Given the description of an element on the screen output the (x, y) to click on. 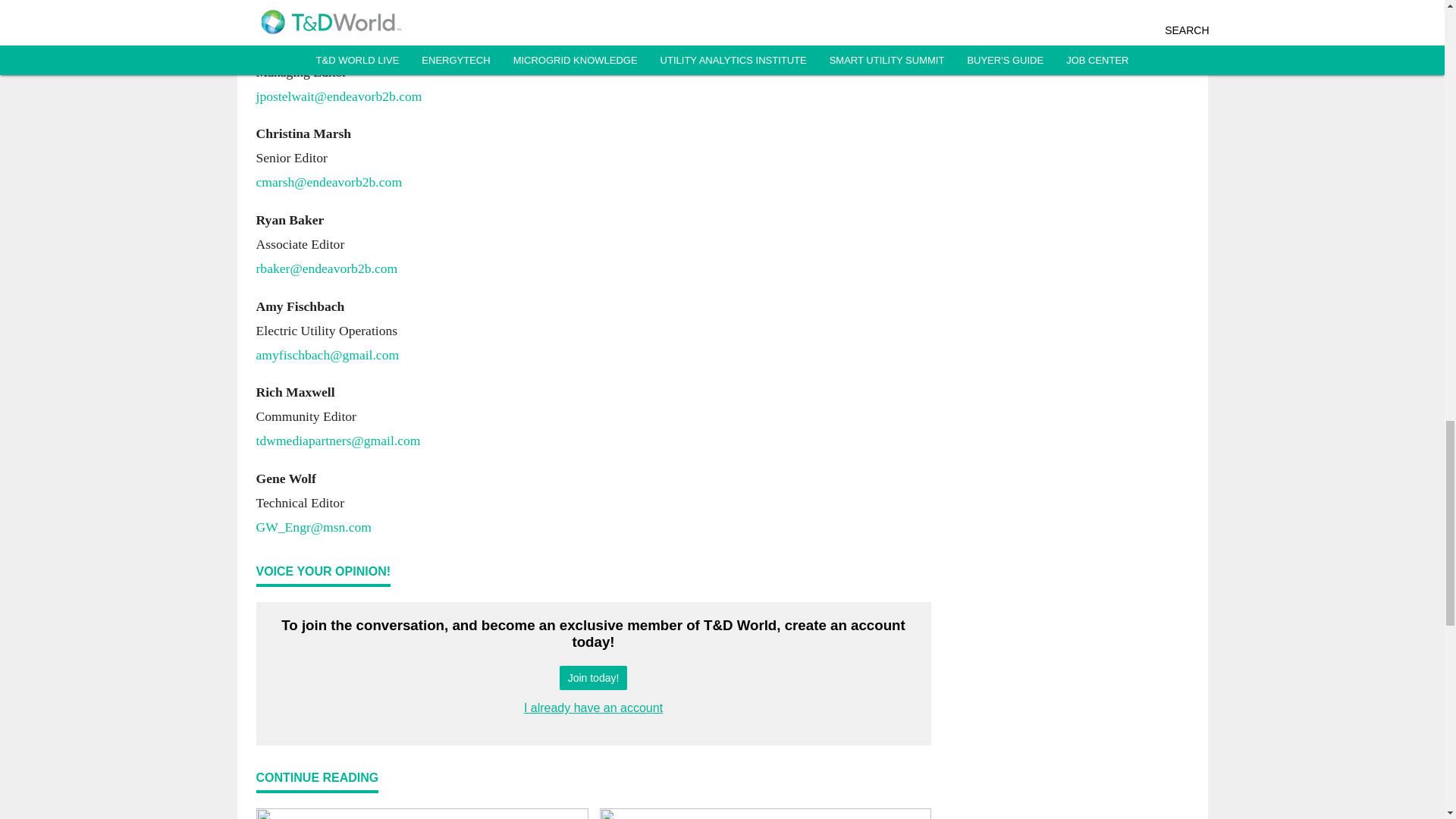
Join today! (593, 678)
I already have an account (593, 707)
